Given the description of an element on the screen output the (x, y) to click on. 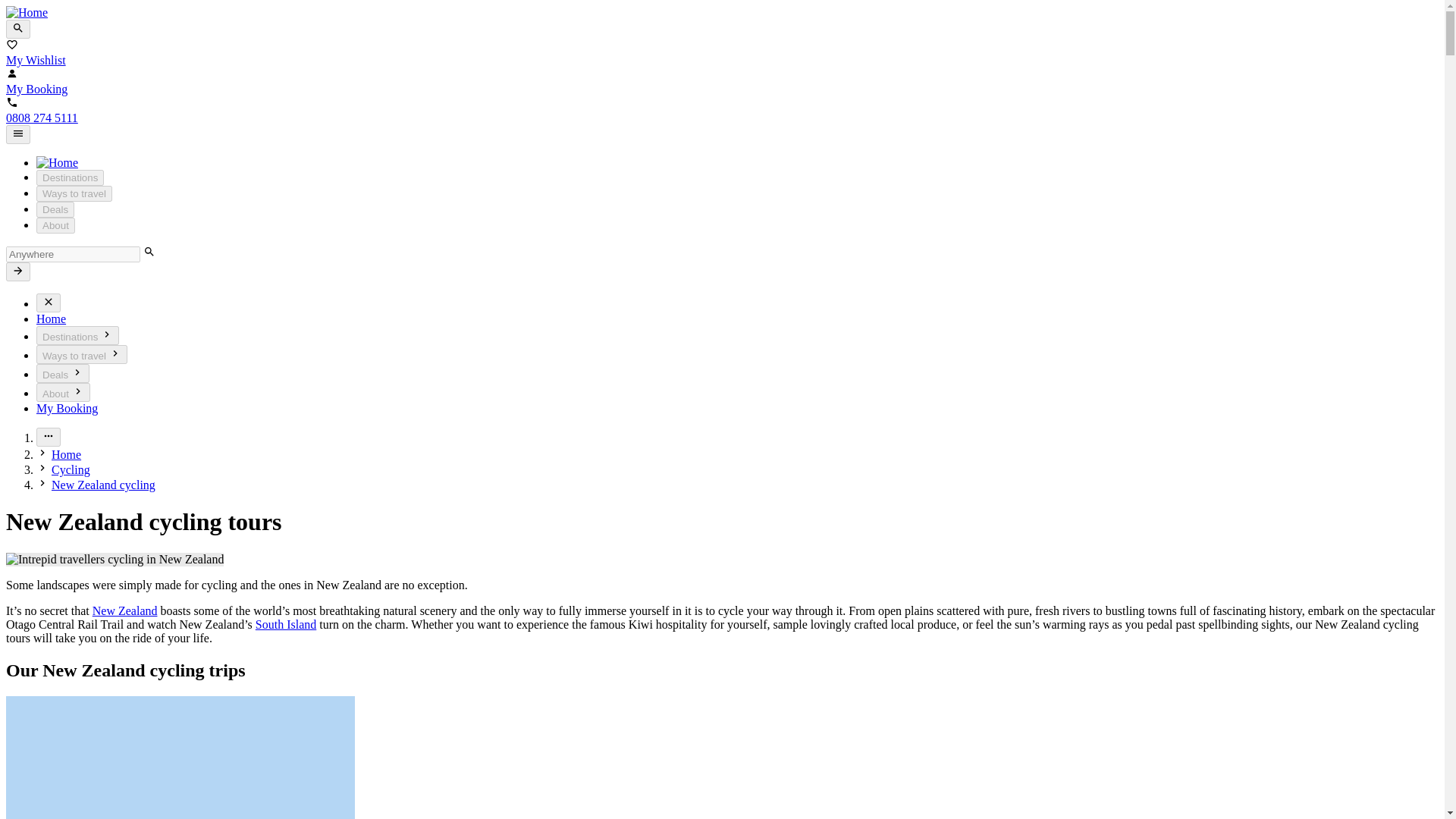
Ways to travel (74, 193)
About (63, 392)
Destinations (69, 177)
About (55, 225)
Deals (62, 373)
Home (50, 318)
Ways to travel (82, 353)
My Booking (66, 408)
Destinations (77, 334)
Deals (55, 209)
Read more (48, 436)
